Given the description of an element on the screen output the (x, y) to click on. 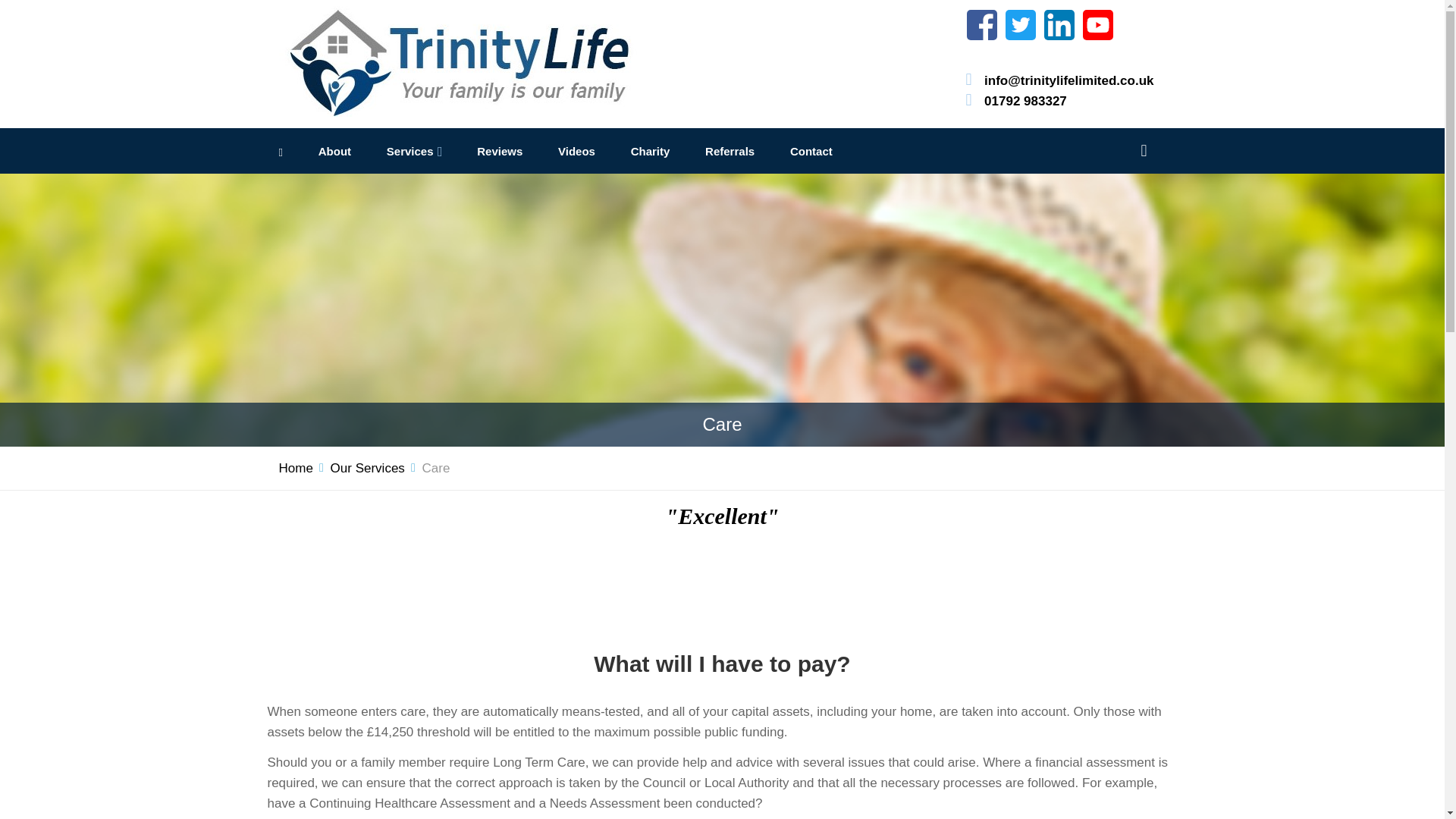
Videos (576, 151)
LinkedIn (1058, 24)
Our Services (367, 467)
Contact (811, 151)
Referrals (729, 151)
Home (296, 467)
Customer reviews powered by Trustpilot (722, 583)
YouTube (1098, 24)
01792 983327 (1025, 100)
Charity (649, 151)
